Given the description of an element on the screen output the (x, y) to click on. 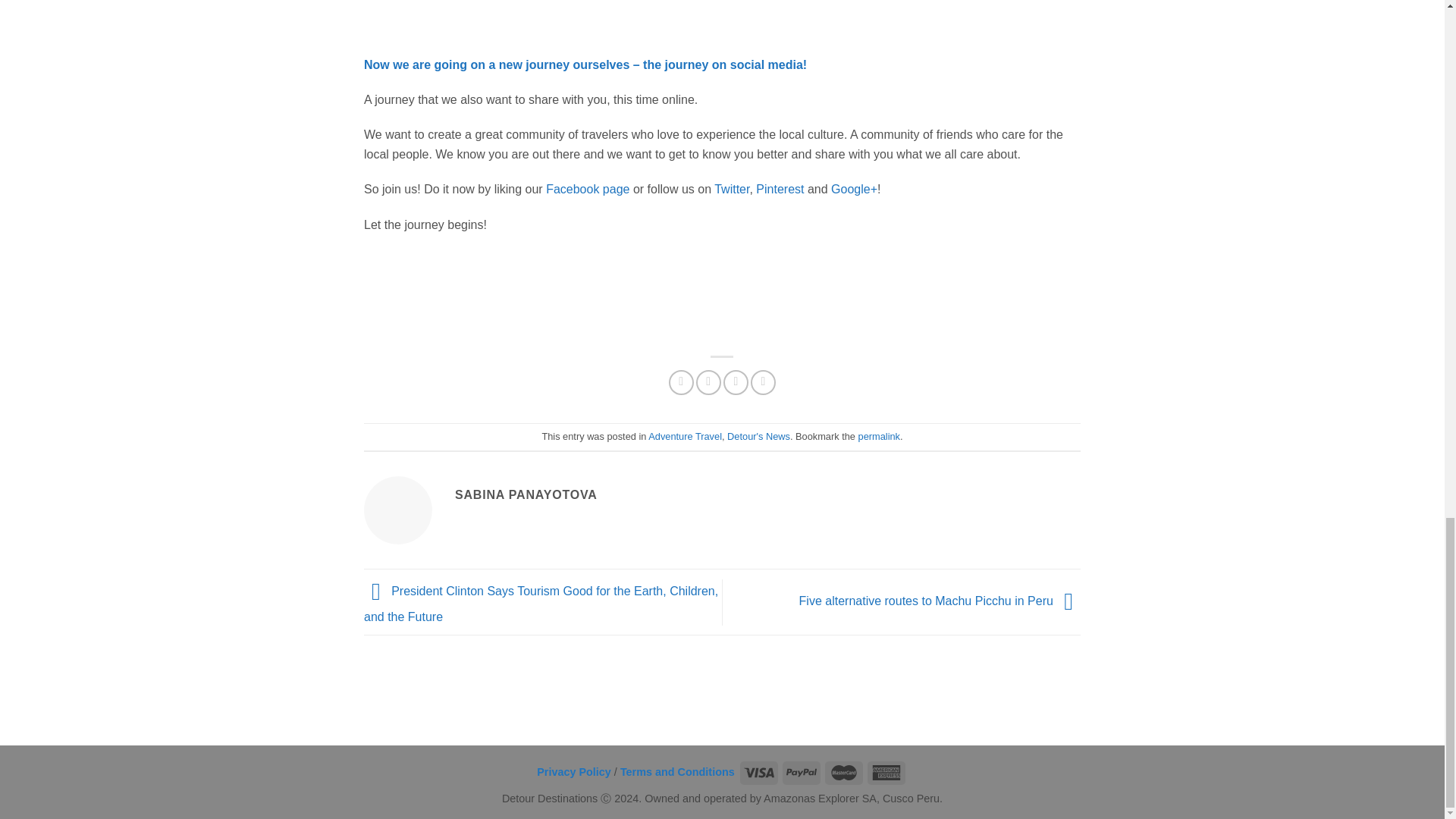
Permalink to Waponi! Detour Destinations is Going Social (879, 436)
Email to a Friend (735, 382)
Share on Facebook (681, 382)
Pin on Pinterest (763, 382)
Share on Twitter (707, 382)
